Given the description of an element on the screen output the (x, y) to click on. 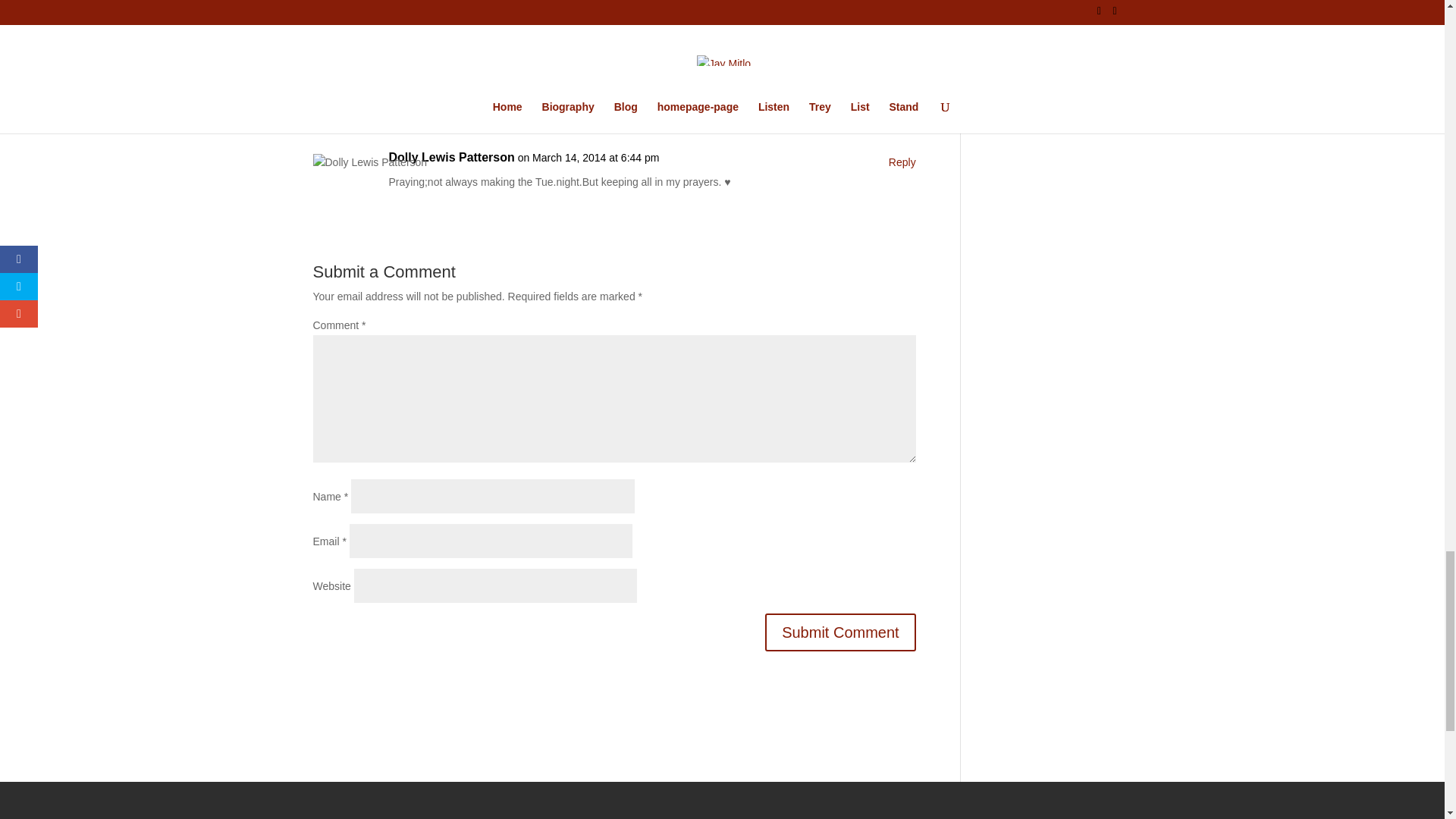
Reply (901, 162)
Submit Comment (840, 631)
Reply (901, 60)
Submit Comment (840, 631)
